Given the description of an element on the screen output the (x, y) to click on. 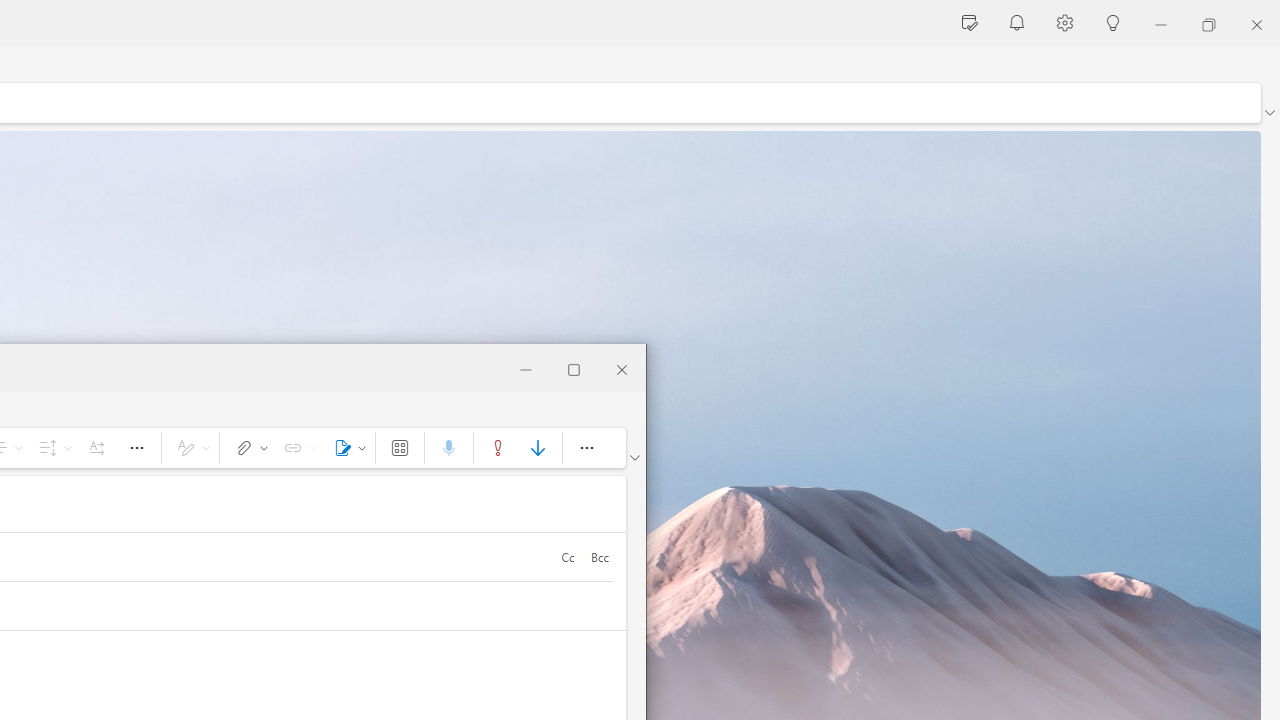
Cc (567, 556)
Styles (190, 447)
High importance (497, 447)
Apps (399, 447)
Attach file (248, 447)
Signature (346, 447)
Low importance (538, 447)
Spacing (52, 447)
Dictate (448, 447)
Left-to-right (96, 447)
Maximize (573, 367)
Link (297, 447)
